Given the description of an element on the screen output the (x, y) to click on. 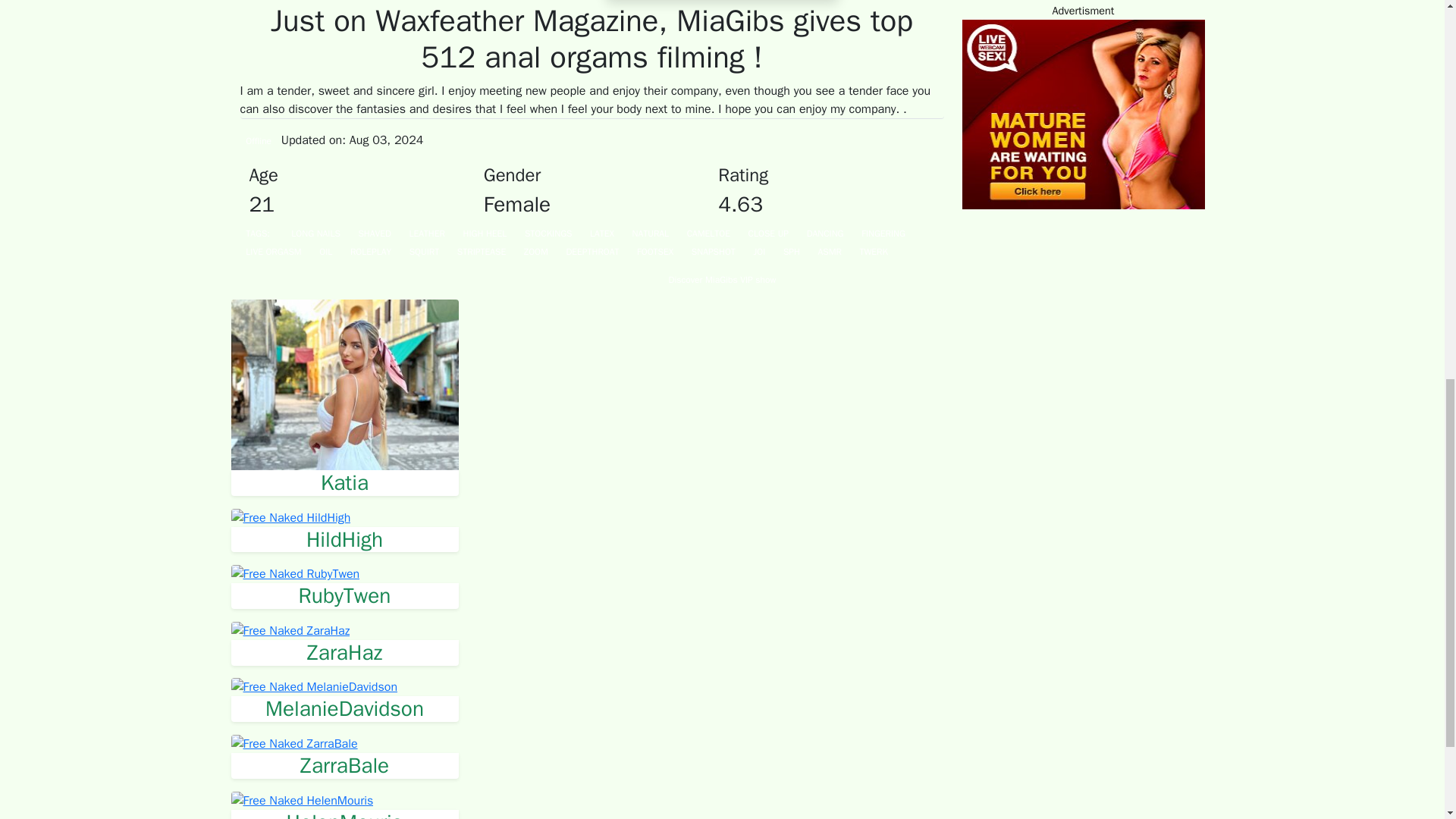
ZaraHaz (344, 652)
Katia (344, 483)
Free Naked Katia (344, 483)
Free Naked HildHigh (344, 539)
MelanieDavidson (344, 708)
Free Naked HildHigh (290, 516)
RubyTwen (344, 596)
HildHigh (344, 539)
Free Naked Katia (344, 384)
